Given the description of an element on the screen output the (x, y) to click on. 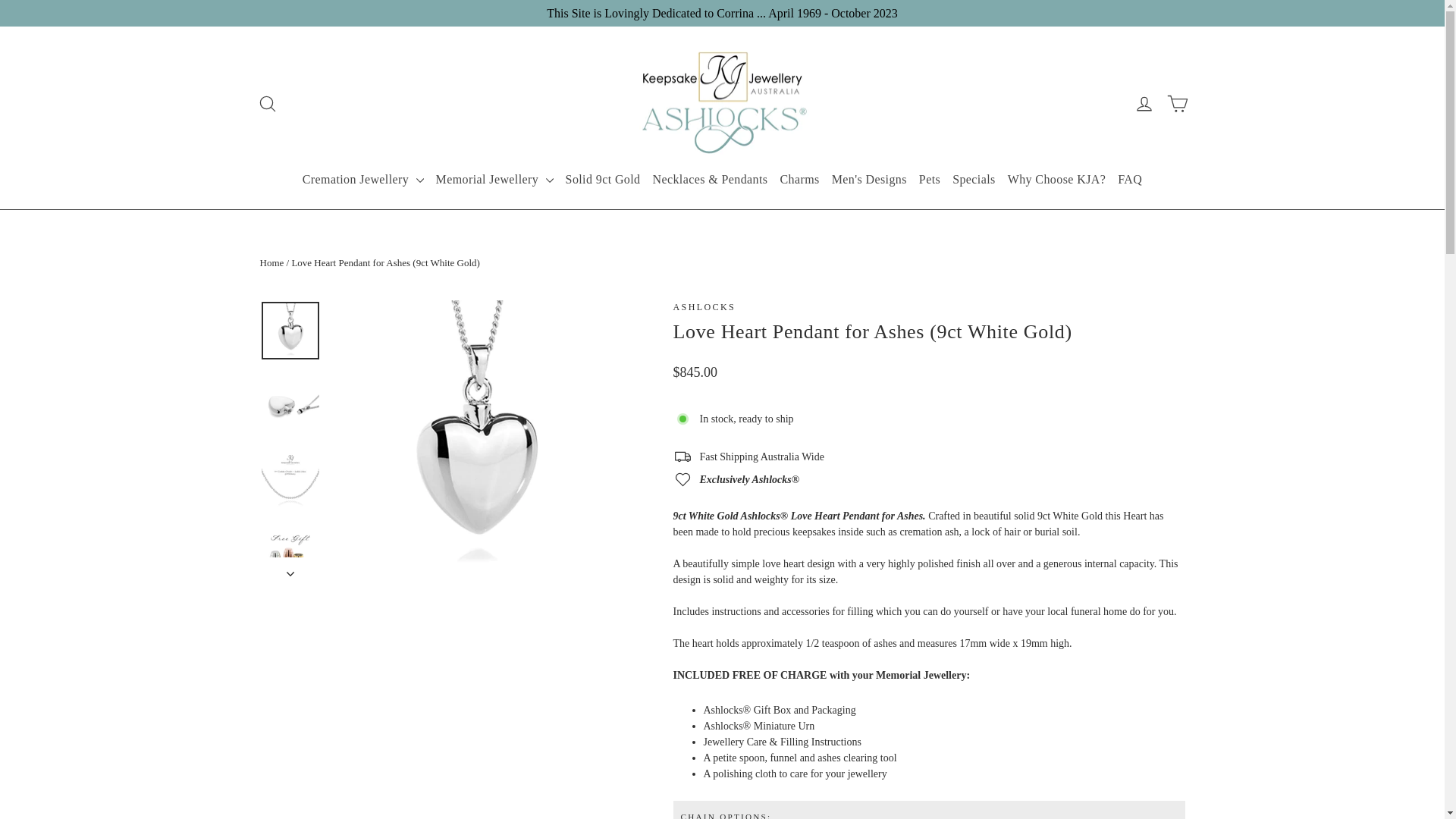
Cart Element type: text (1176, 102)
Cremation Jewellery Element type: text (362, 179)
Memorial Jewellery Element type: text (494, 179)
ASHLOCKS Element type: text (704, 306)
Solid 9ct Gold Element type: text (602, 179)
Necklaces & Pendants Element type: text (710, 179)
Log in Element type: text (1143, 102)
Charms Element type: text (799, 179)
Pets Element type: text (929, 179)
Search Element type: text (266, 102)
Why Choose KJA? Element type: text (1056, 179)
Home Element type: text (271, 262)
FAQ Element type: text (1129, 179)
Specials Element type: text (973, 179)
Men's Designs Element type: text (869, 179)
